Given the description of an element on the screen output the (x, y) to click on. 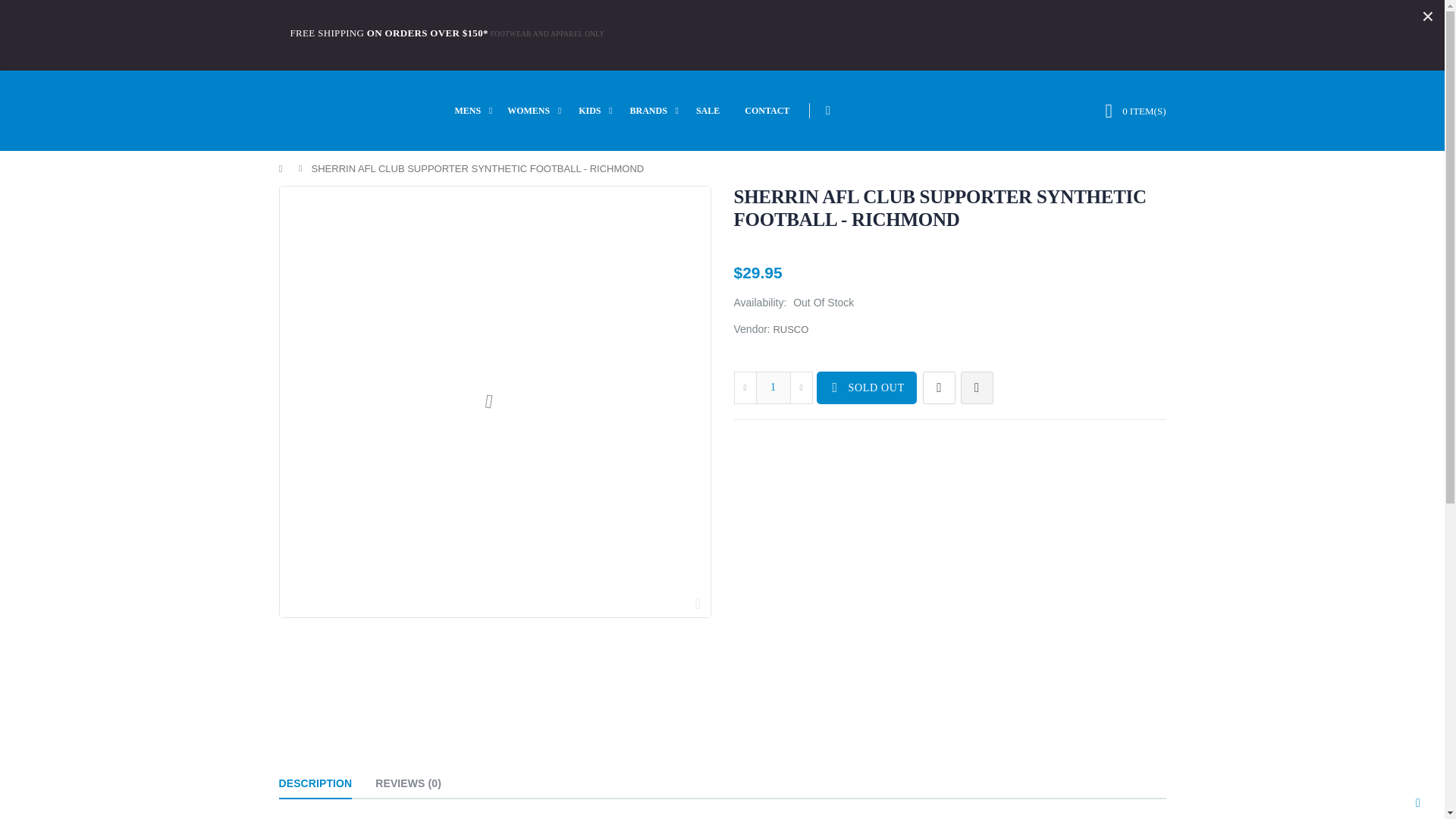
WOMENS (537, 110)
1 (772, 387)
BRANDS (657, 110)
Back to the frontpage (284, 168)
Add to compare (976, 387)
Add to wishlist (939, 387)
KIDS (599, 110)
MENS (477, 110)
